Given the description of an element on the screen output the (x, y) to click on. 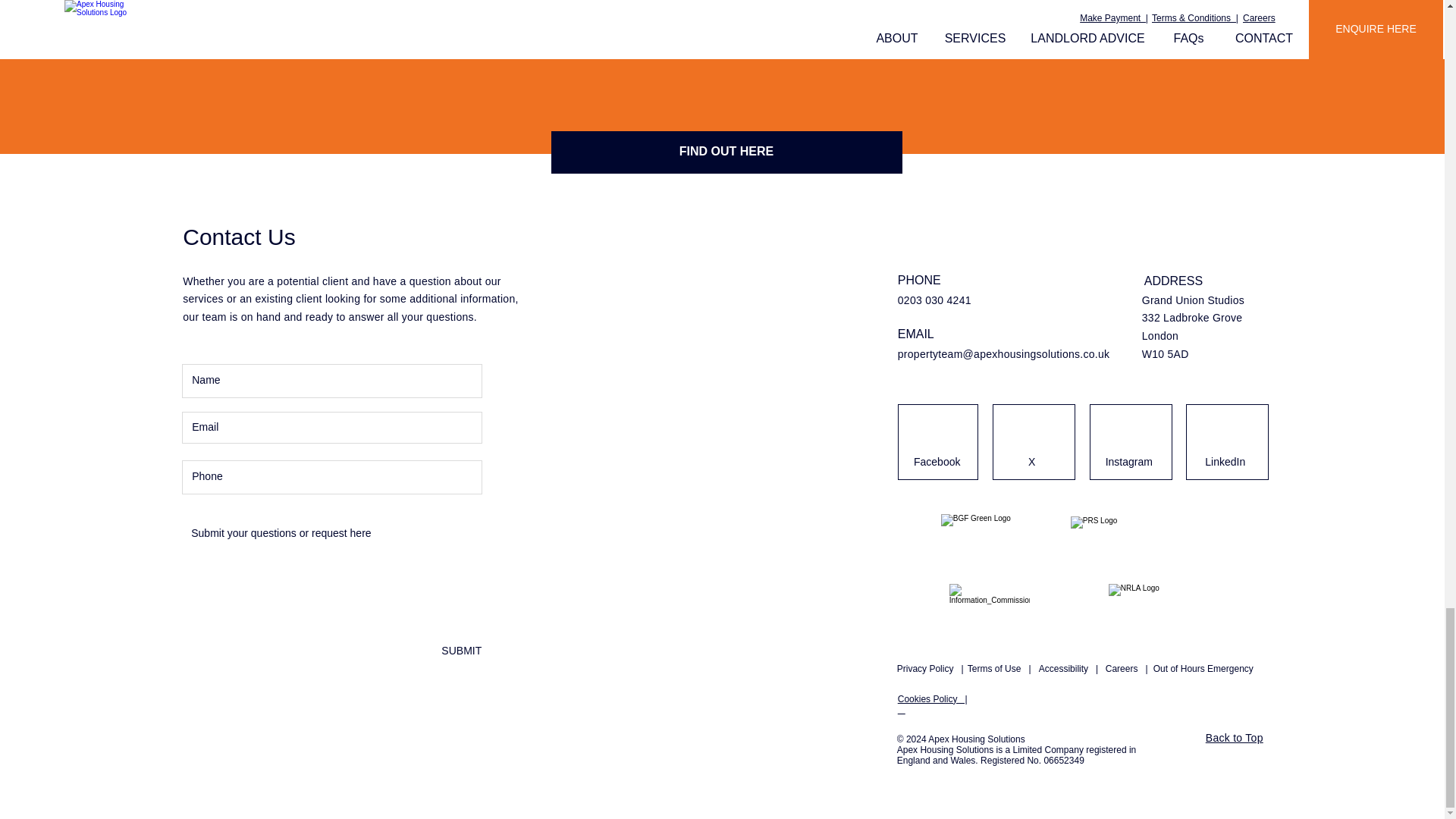
FIND OUT HERE (725, 152)
